Given the description of an element on the screen output the (x, y) to click on. 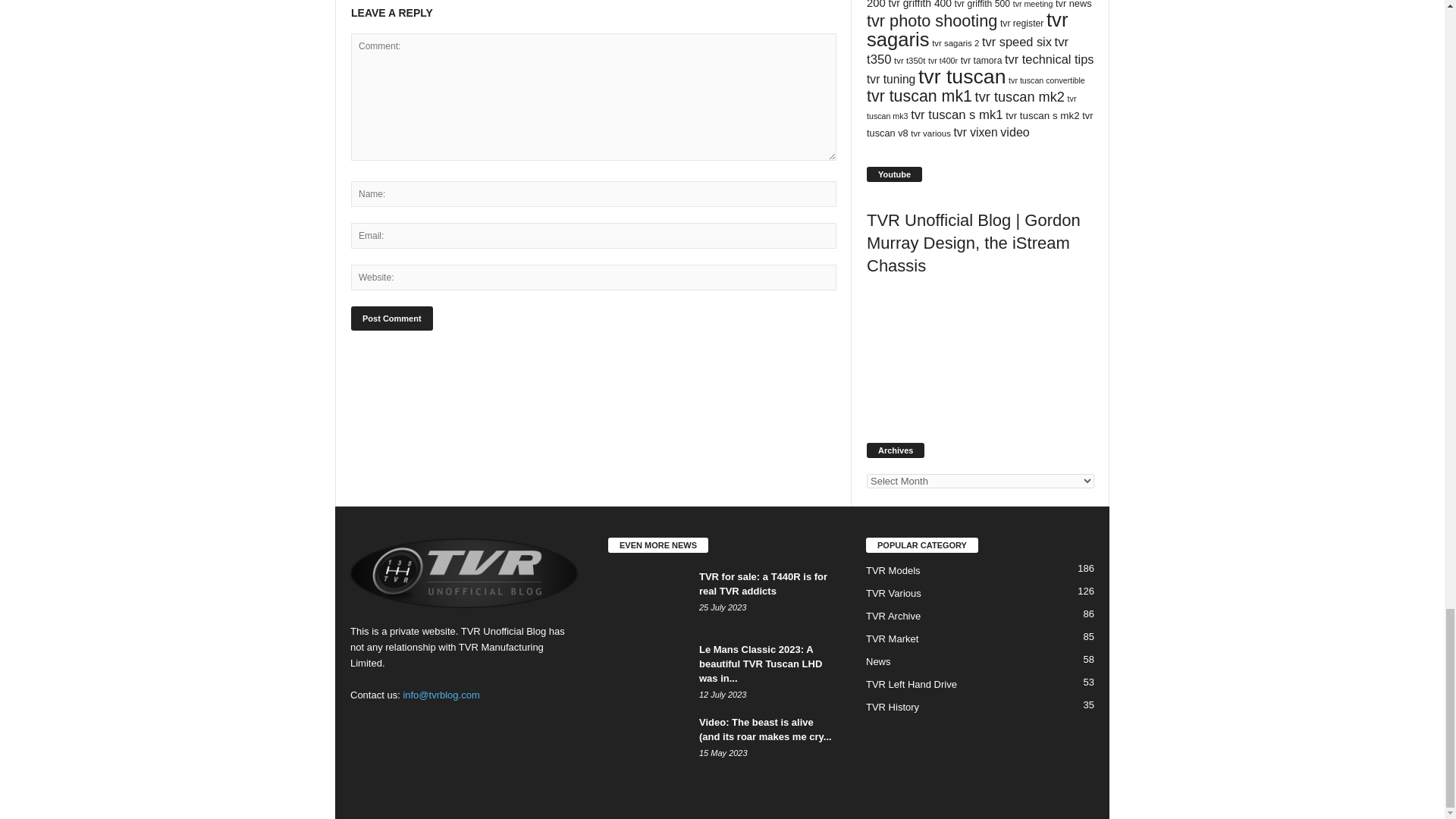
Post Comment (391, 318)
